Given the description of an element on the screen output the (x, y) to click on. 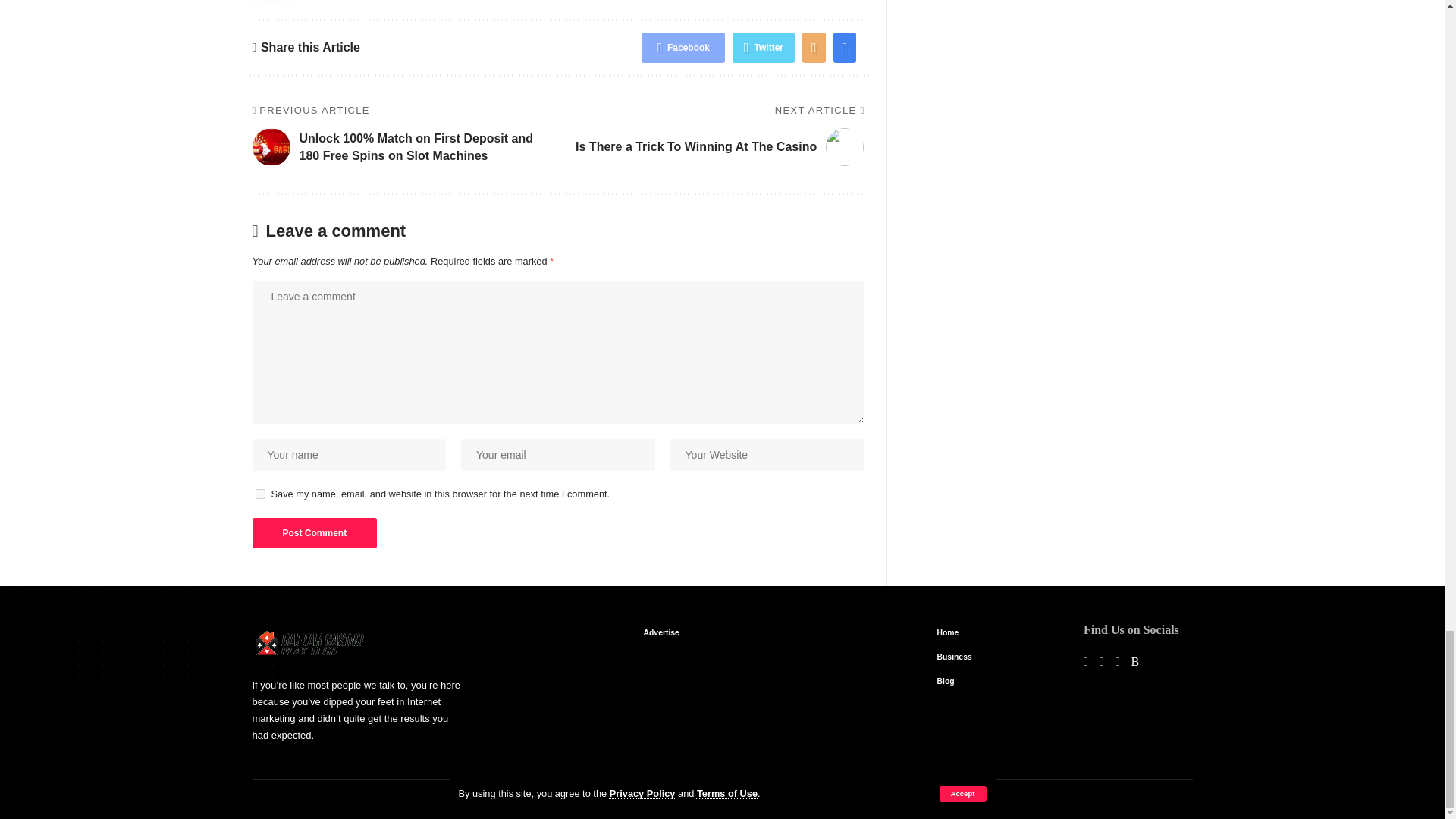
yes (259, 493)
Post Comment (314, 532)
